Given the description of an element on the screen output the (x, y) to click on. 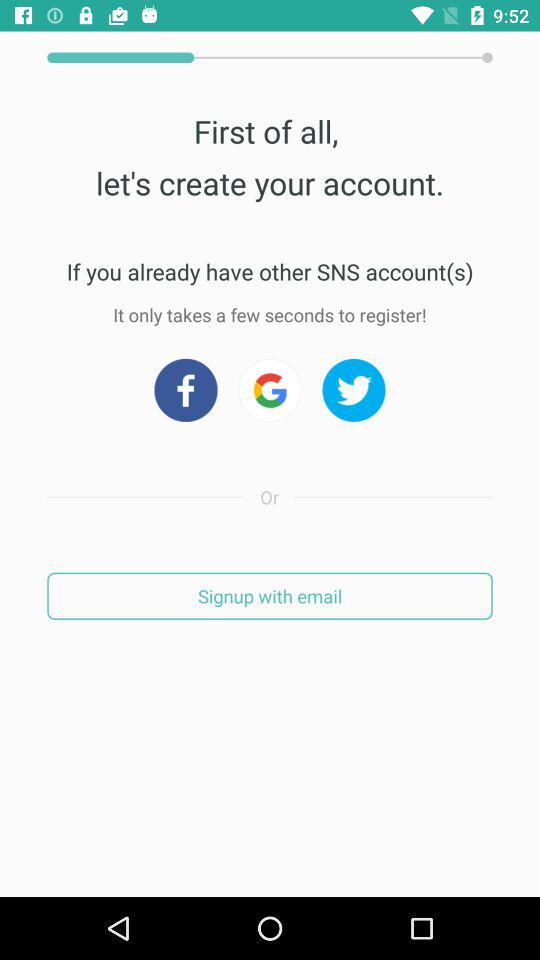
go to facebook (185, 389)
